Given the description of an element on the screen output the (x, y) to click on. 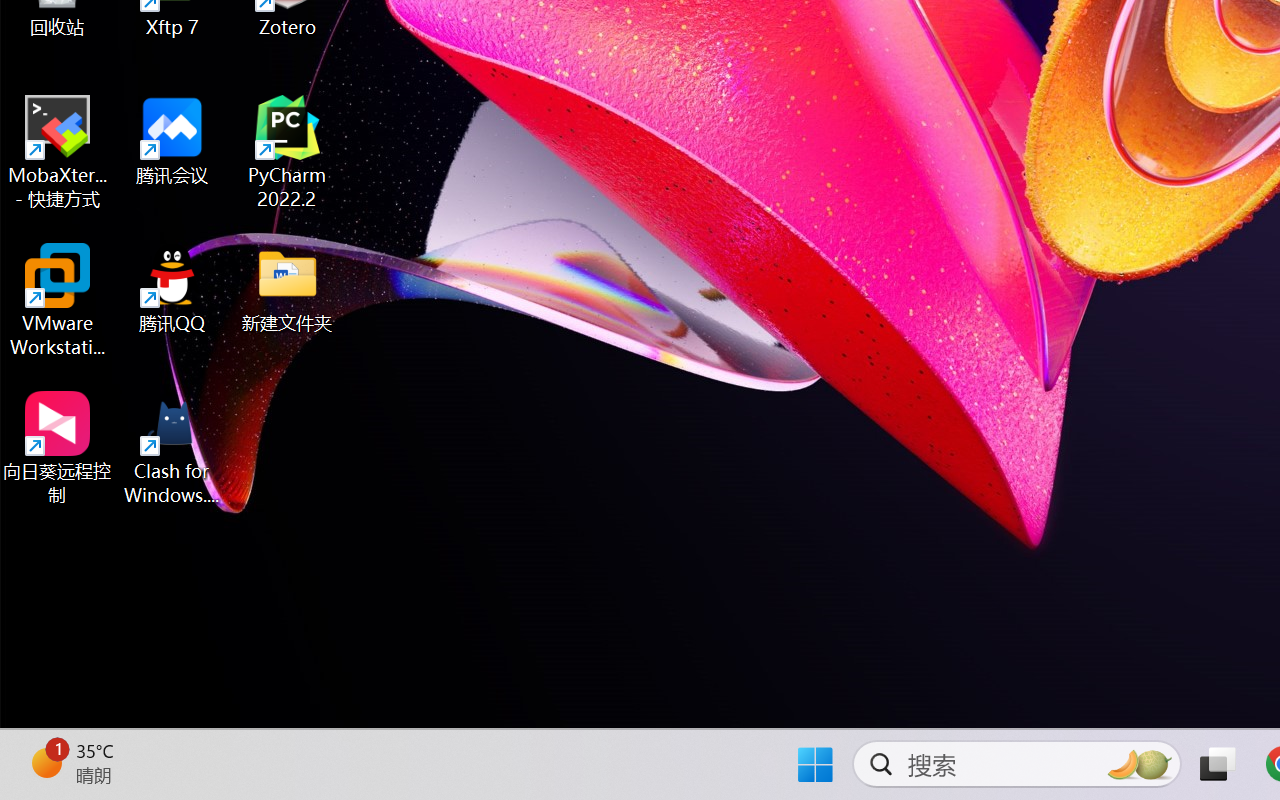
PyCharm 2022.2 (287, 152)
VMware Workstation Pro (57, 300)
